Given the description of an element on the screen output the (x, y) to click on. 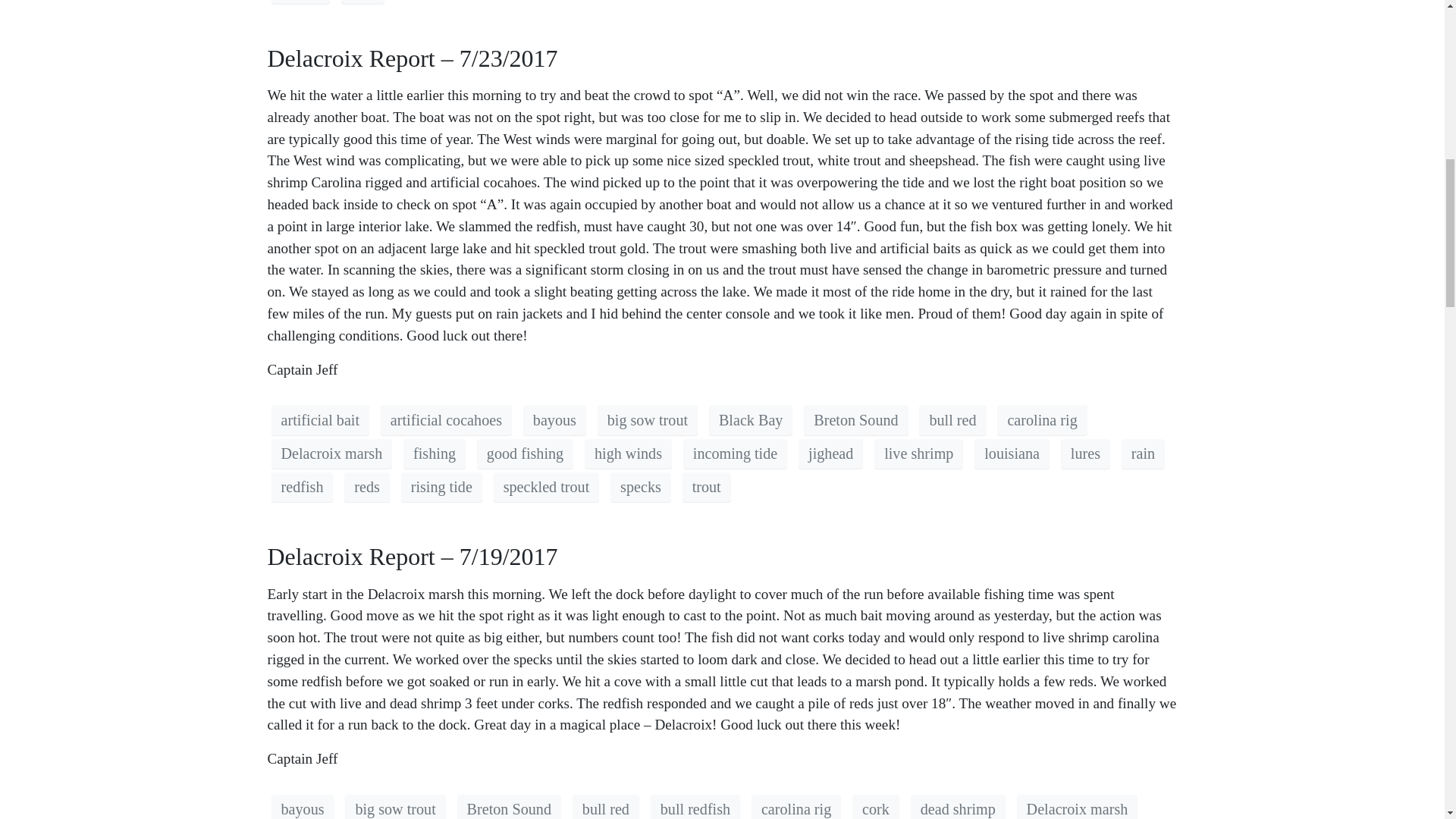
artificial cocahoes (446, 419)
bayous (554, 419)
pintail (300, 1)
rain (362, 1)
artificial bait (319, 419)
big sow trout (646, 419)
